Given the description of an element on the screen output the (x, y) to click on. 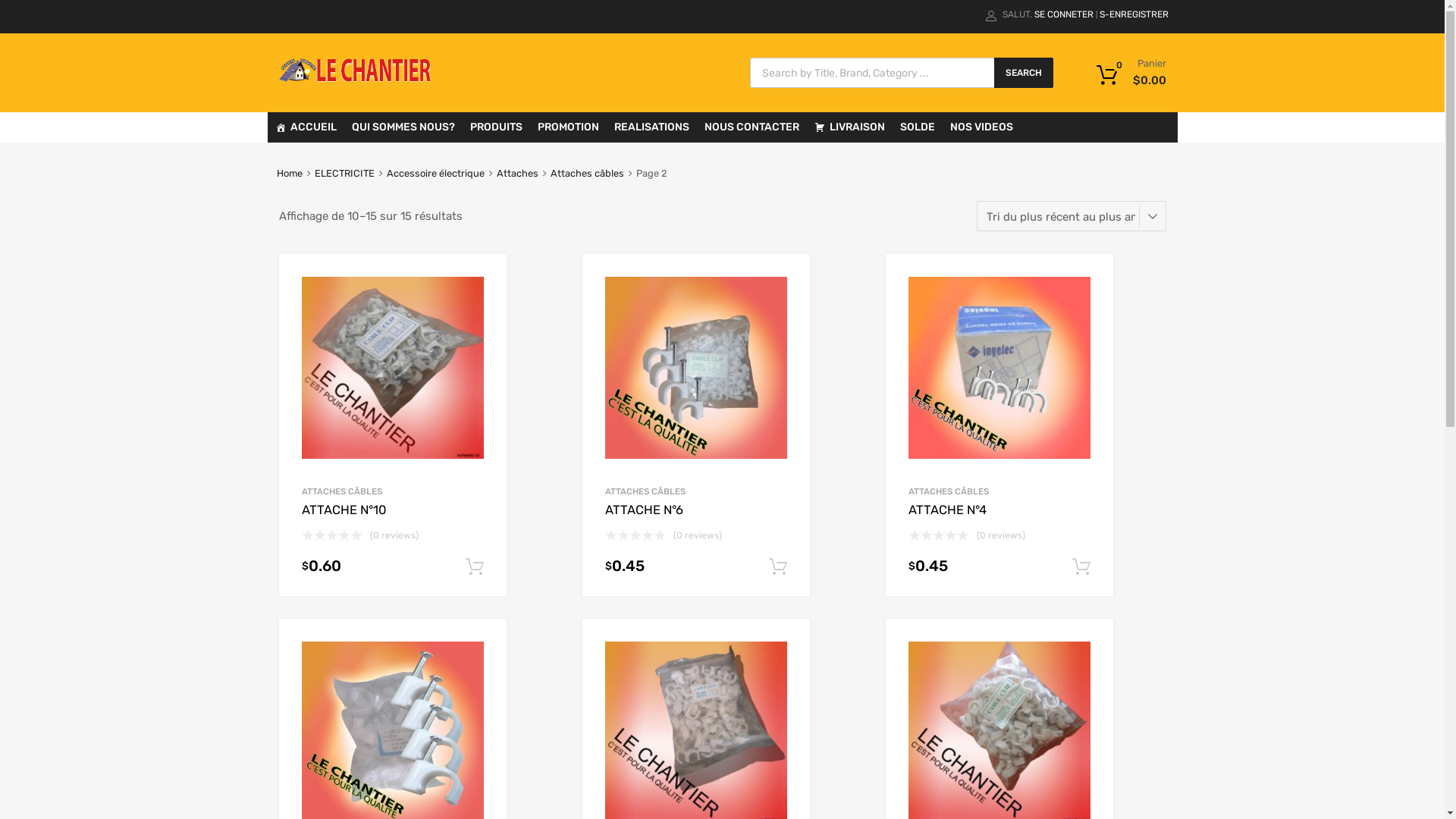
SEARCH Element type: text (1022, 72)
SOLDE Element type: text (916, 127)
Ajouter au panier Element type: text (474, 567)
PRODUITS Element type: text (496, 127)
LIVRAISON Element type: text (849, 127)
NOS VIDEOS Element type: text (980, 127)
Le Chantier Element type: hover (354, 77)
QUI SOMMES NOUS? Element type: text (403, 127)
NOUS CONTACTER Element type: text (751, 127)
Attaches Element type: text (517, 172)
PROMOTION Element type: text (567, 127)
Register Element type: text (795, 469)
Ajouter au panier Element type: text (1081, 567)
Home Element type: text (289, 172)
S-ENREGISTRER Element type: text (1133, 14)
ELECTRICITE Element type: text (344, 172)
SE CONNETER Element type: text (1063, 14)
Login Element type: text (799, 432)
ACCUEIL Element type: text (304, 127)
REALISATIONS Element type: text (651, 127)
Ajouter au panier Element type: text (777, 567)
